Given the description of an element on the screen output the (x, y) to click on. 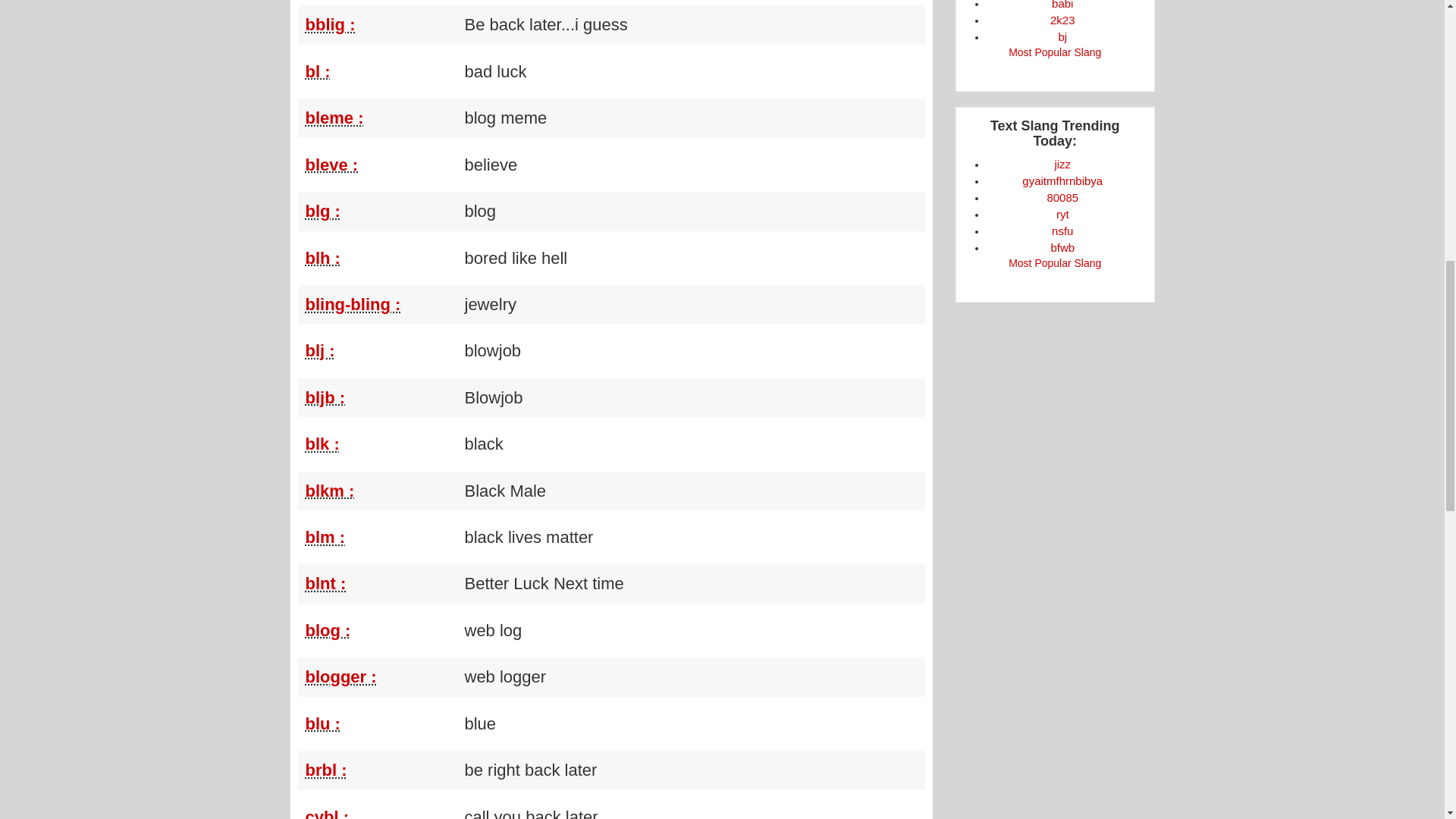
blnt : (325, 583)
blm : (324, 537)
bblig : (329, 24)
blg : (321, 210)
bleve : (331, 164)
bling-bling : (352, 303)
blue (380, 723)
Black Male (380, 490)
blog meme (380, 117)
Be back later...i guess (380, 24)
bl : (317, 71)
Blowjob (380, 397)
Better Luck Next time (380, 583)
blk : (321, 443)
blkm : (328, 490)
